Given the description of an element on the screen output the (x, y) to click on. 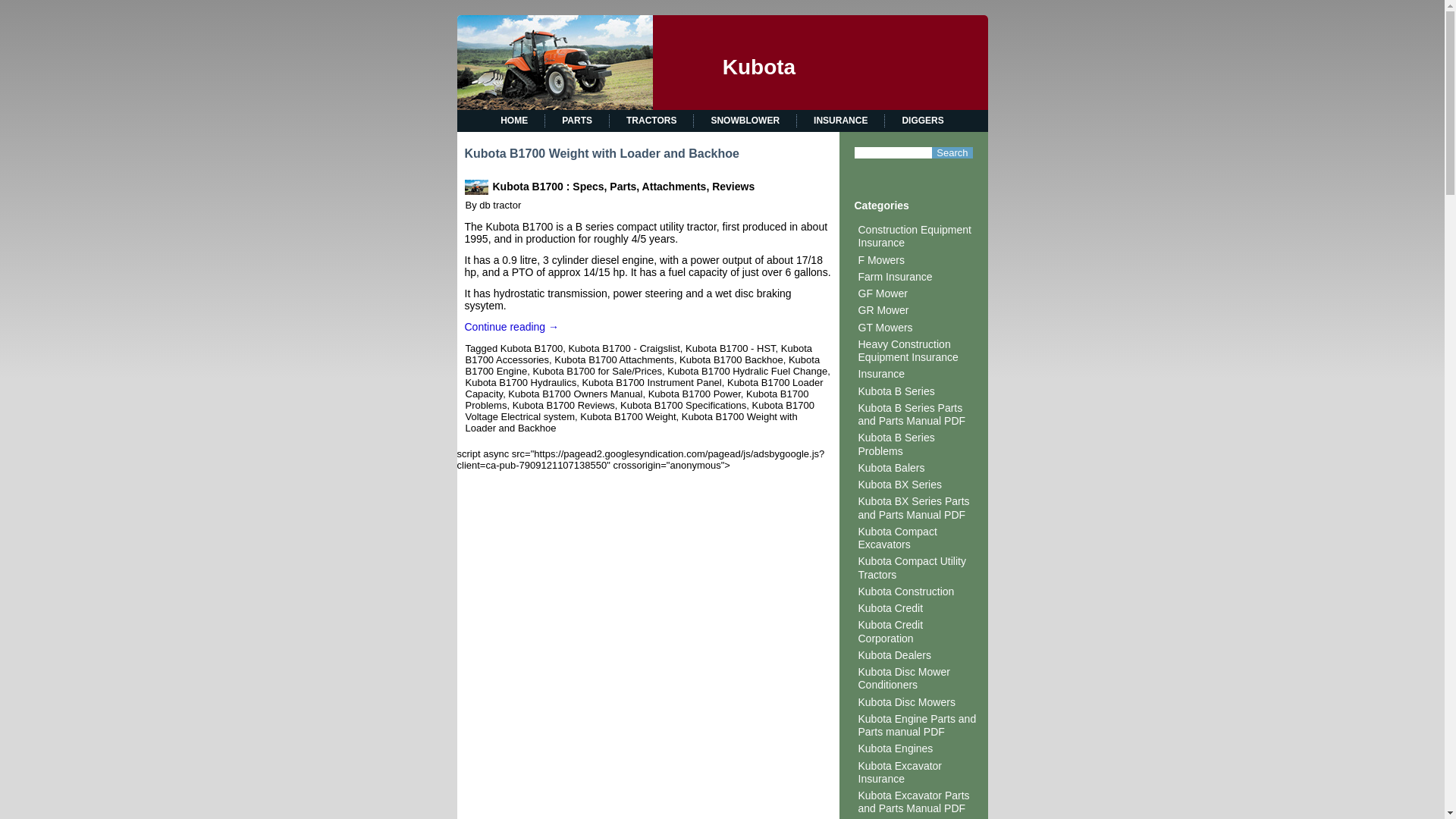
Search (951, 152)
DIGGERS (922, 120)
GR Mower (883, 309)
Kubota B1700 Loader Capacity (644, 387)
INSURANCE (839, 120)
Kubota B1700 Engine (643, 364)
Kubota B1700 Weight (627, 416)
Insurance (881, 373)
Kubota B1700 Instrument Panel (650, 382)
Kubota B1700 Power (694, 393)
PARTS (576, 120)
Kubota B1700 - Craigslist (623, 348)
db tractor (500, 204)
Kubota B1700 Accessories (638, 354)
Kubota B1700 Attachments (614, 359)
